Given the description of an element on the screen output the (x, y) to click on. 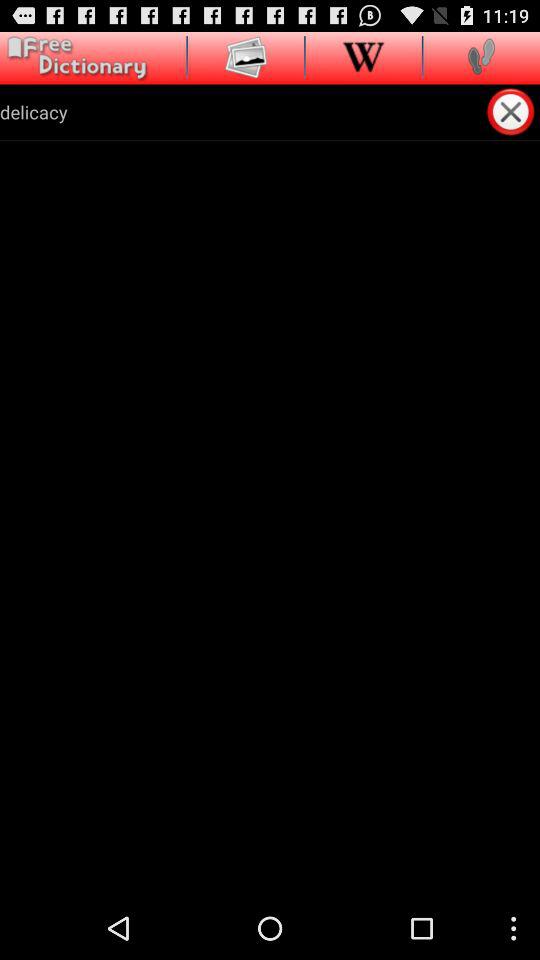
remove search term (512, 111)
